Given the description of an element on the screen output the (x, y) to click on. 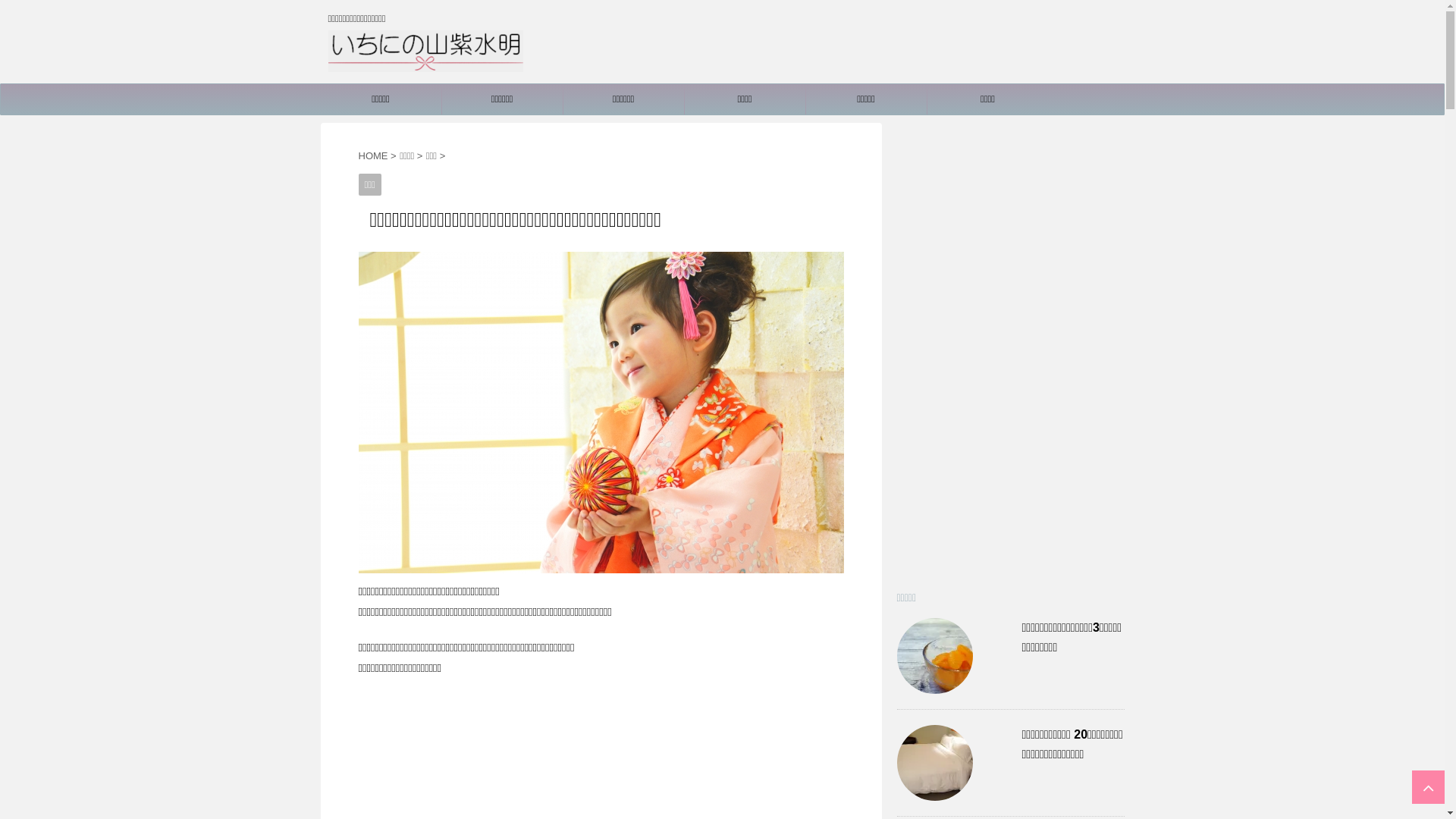
Advertisement Element type: hover (1009, 349)
HOME Element type: text (372, 155)
